Given the description of an element on the screen output the (x, y) to click on. 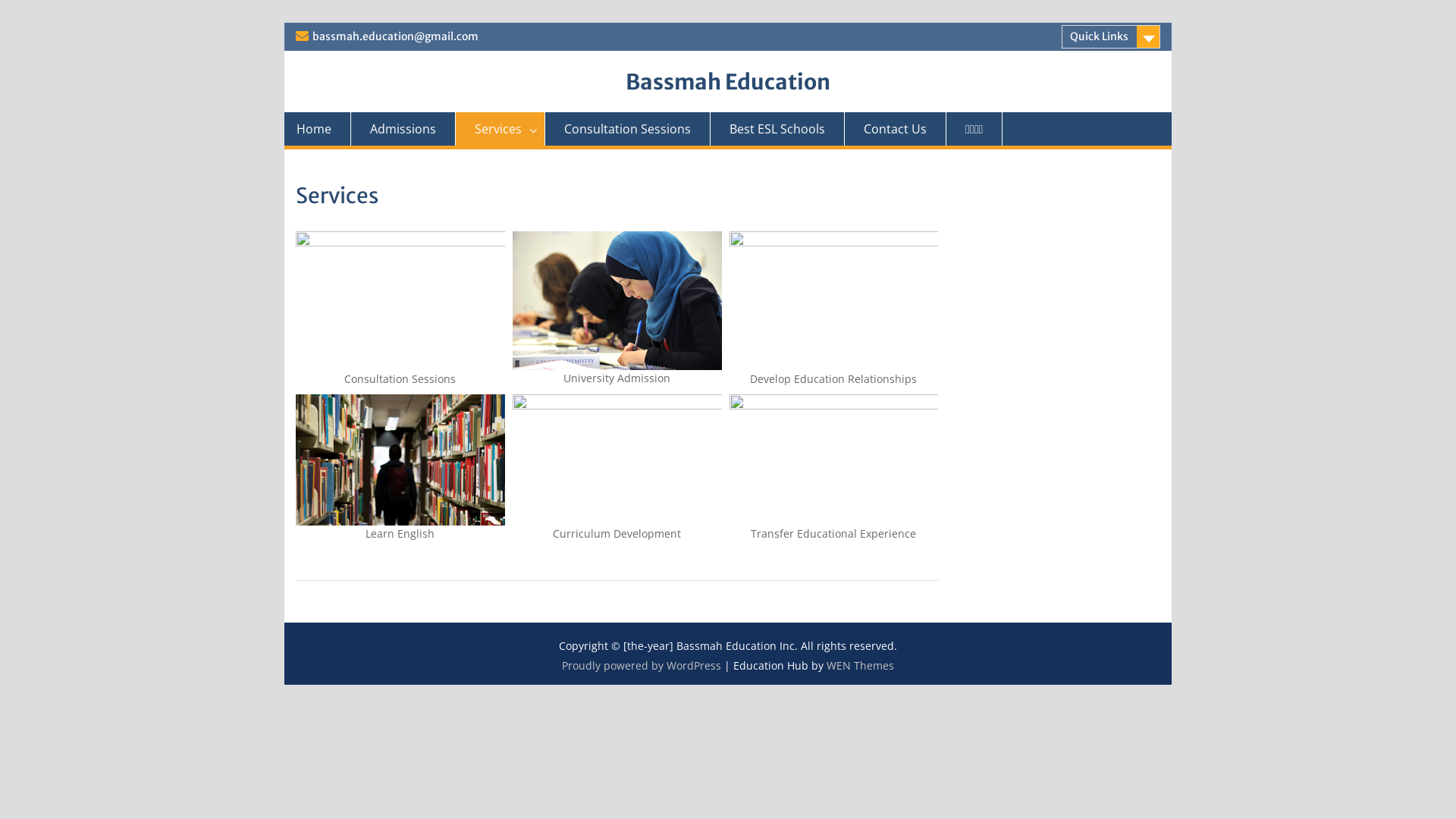
Home Element type: text (313, 128)
bassmah.education@gmail.com Element type: text (395, 36)
Contact Us Element type: text (895, 128)
WEN Themes Element type: text (860, 665)
Services Element type: text (500, 128)
Best ESL Schools Element type: text (777, 128)
Skip to content Element type: text (295, 22)
Proudly powered by WordPress Element type: text (641, 665)
Consultation Sessions Element type: text (627, 128)
Bassmah Education Element type: text (727, 81)
Quick Links Element type: text (1110, 36)
Admissions Element type: text (403, 128)
